Given the description of an element on the screen output the (x, y) to click on. 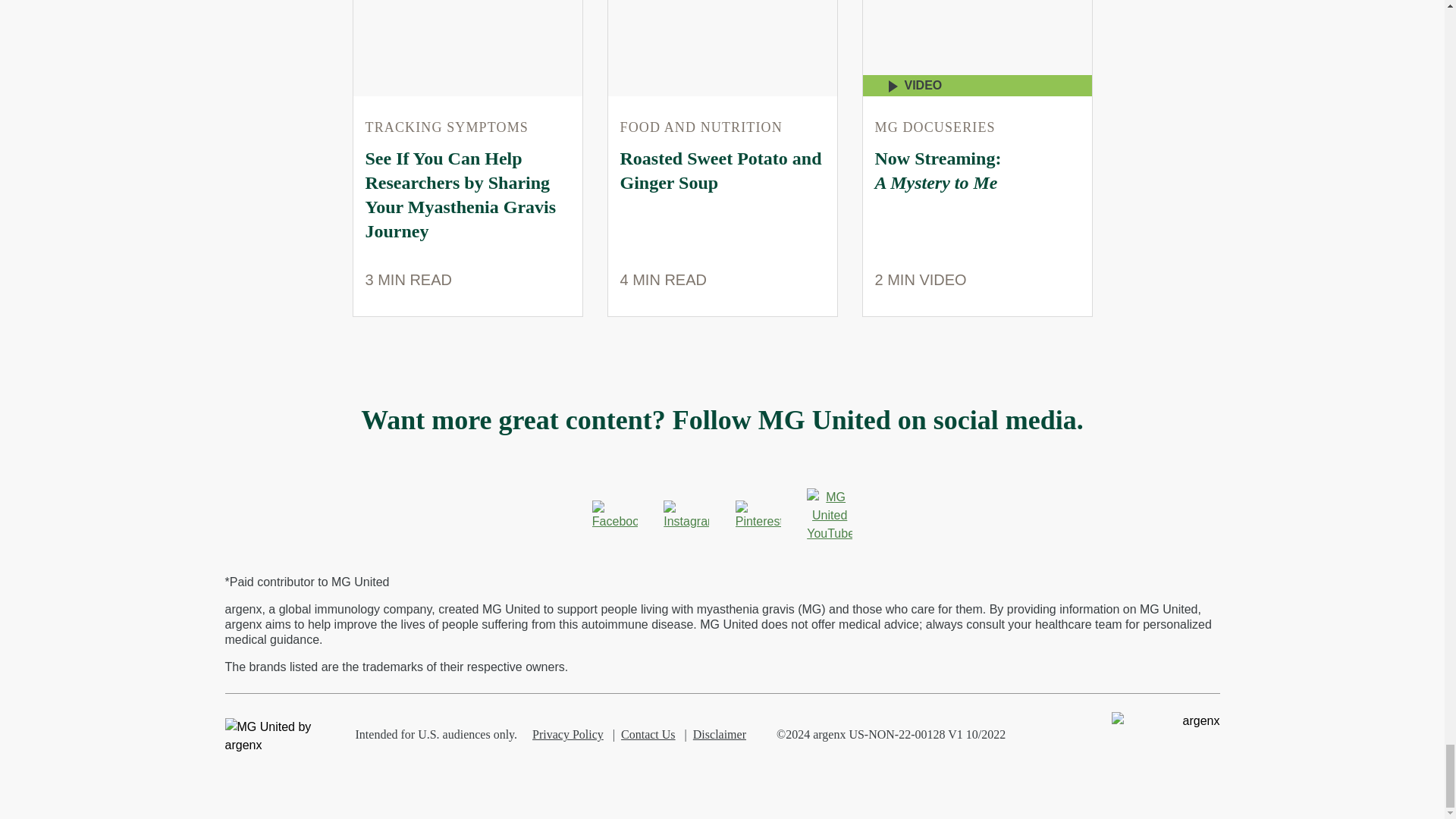
argenx (1166, 720)
MG United by argenx (278, 736)
Facebook (614, 515)
Instagram (686, 515)
Pinterest (757, 515)
